Given the description of an element on the screen output the (x, y) to click on. 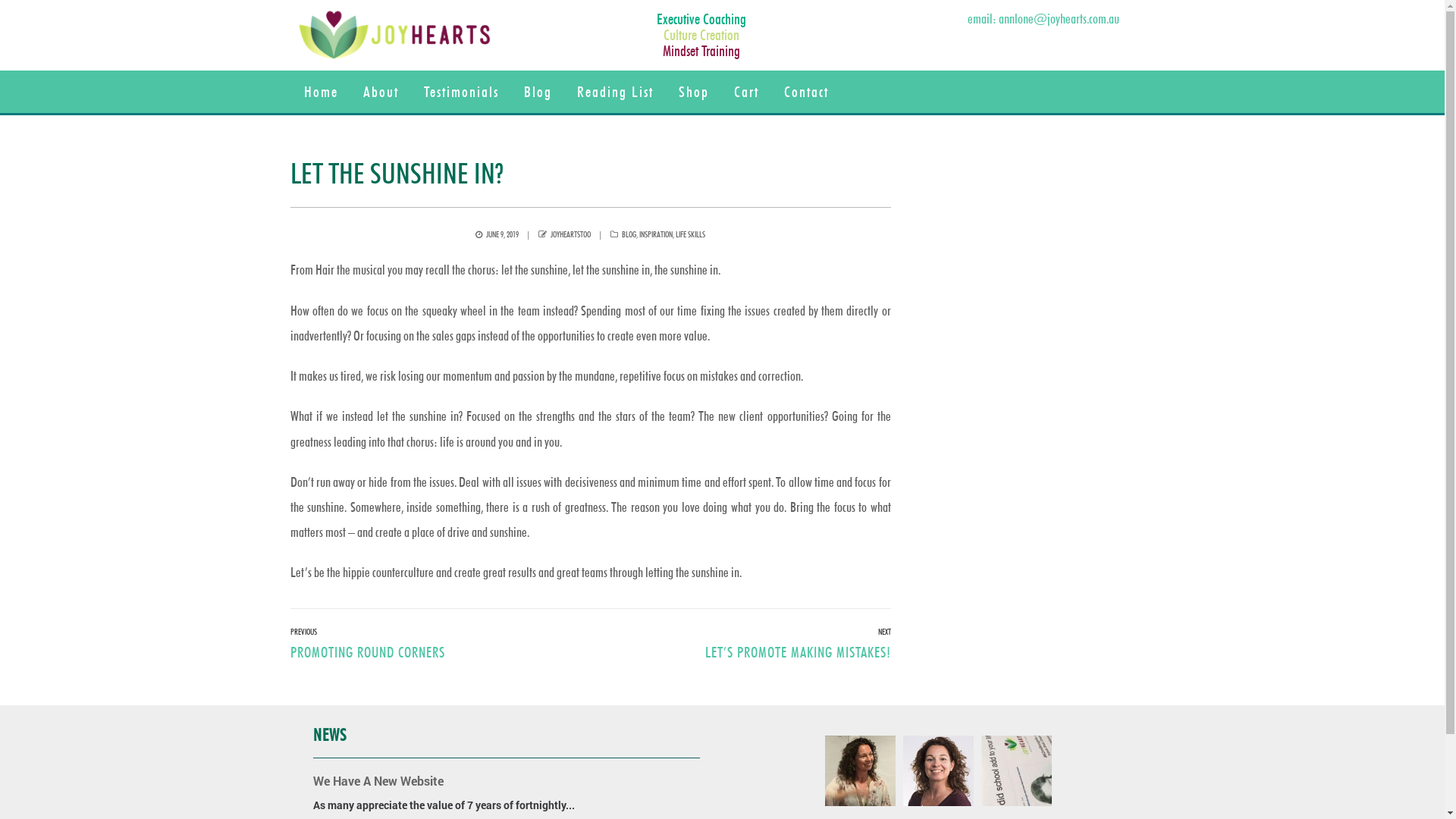
BLOG Element type: text (628, 234)
Testimonials Element type: text (460, 91)
INSPIRATION Element type: text (655, 234)
We Have A New Website Element type: text (377, 780)
Executive Coaching Element type: text (701, 18)
Home Element type: text (320, 91)
JOYHEARTSTOO Element type: text (570, 234)
Culture Creation Element type: text (701, 34)
Blog Element type: text (537, 91)
JUNE 9, 2019 Element type: text (502, 234)
Reading List Element type: text (614, 91)
Mindset Training Element type: text (701, 50)
About Element type: text (380, 91)
LIFE SKILLS Element type: text (690, 234)
email: annlone@joyhearts.com.au Element type: text (1043, 18)
PREVIOUS
Previous post:
PROMOTING ROUND CORNERS Element type: text (366, 644)
Cart Element type: text (746, 91)
Shop Element type: text (692, 91)
Contact Element type: text (806, 91)
